Given the description of an element on the screen output the (x, y) to click on. 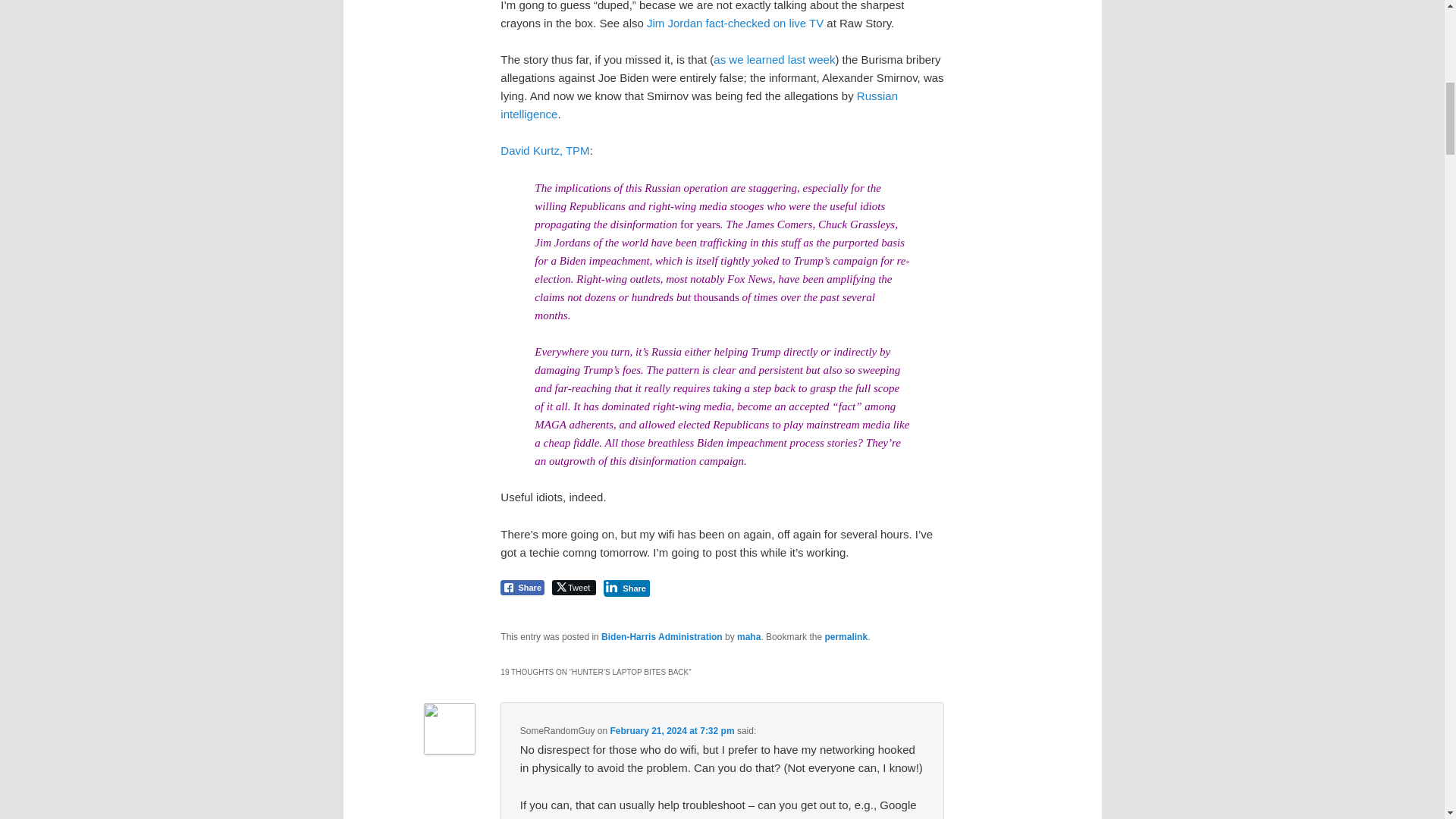
Tweet (573, 587)
February 21, 2024 at 7:32 pm (671, 730)
Share (522, 587)
Russian intelligence (699, 104)
permalink (845, 636)
maha (748, 636)
Share (626, 587)
Biden-Harris Administration (661, 636)
Jim Jordan fact-checked on live TV (735, 22)
David Kurtz, TPM (544, 150)
most notably Fox News (718, 278)
as we learned last week (773, 59)
